Given the description of an element on the screen output the (x, y) to click on. 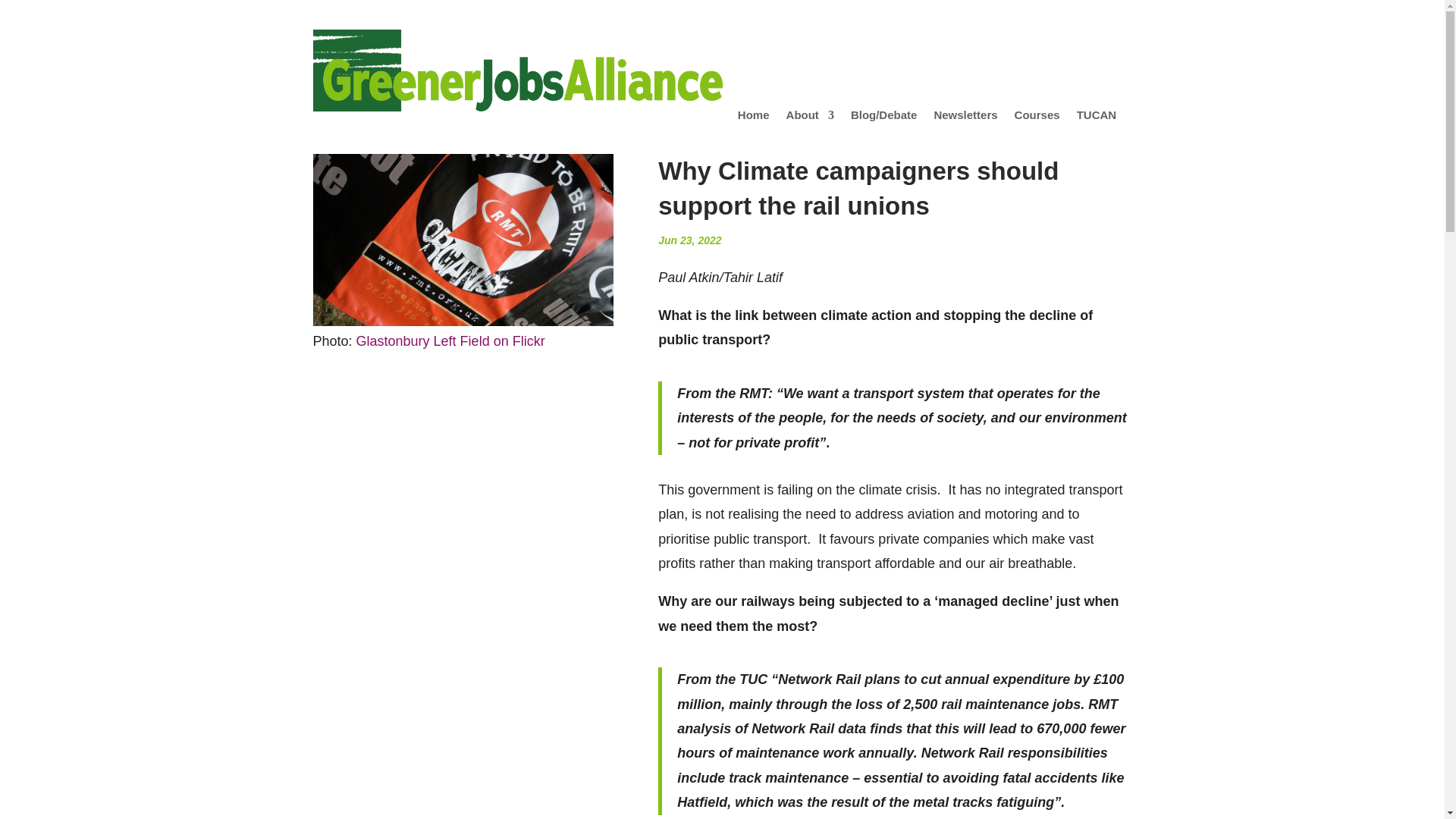
About (810, 117)
GJA LOGO NEW IDEA Adrianna (517, 70)
Glastonbury Left Field on Flickr (450, 340)
Home (754, 117)
Courses (1036, 117)
RMT (462, 239)
Newsletters (965, 117)
TUCAN (1096, 117)
